Given the description of an element on the screen output the (x, y) to click on. 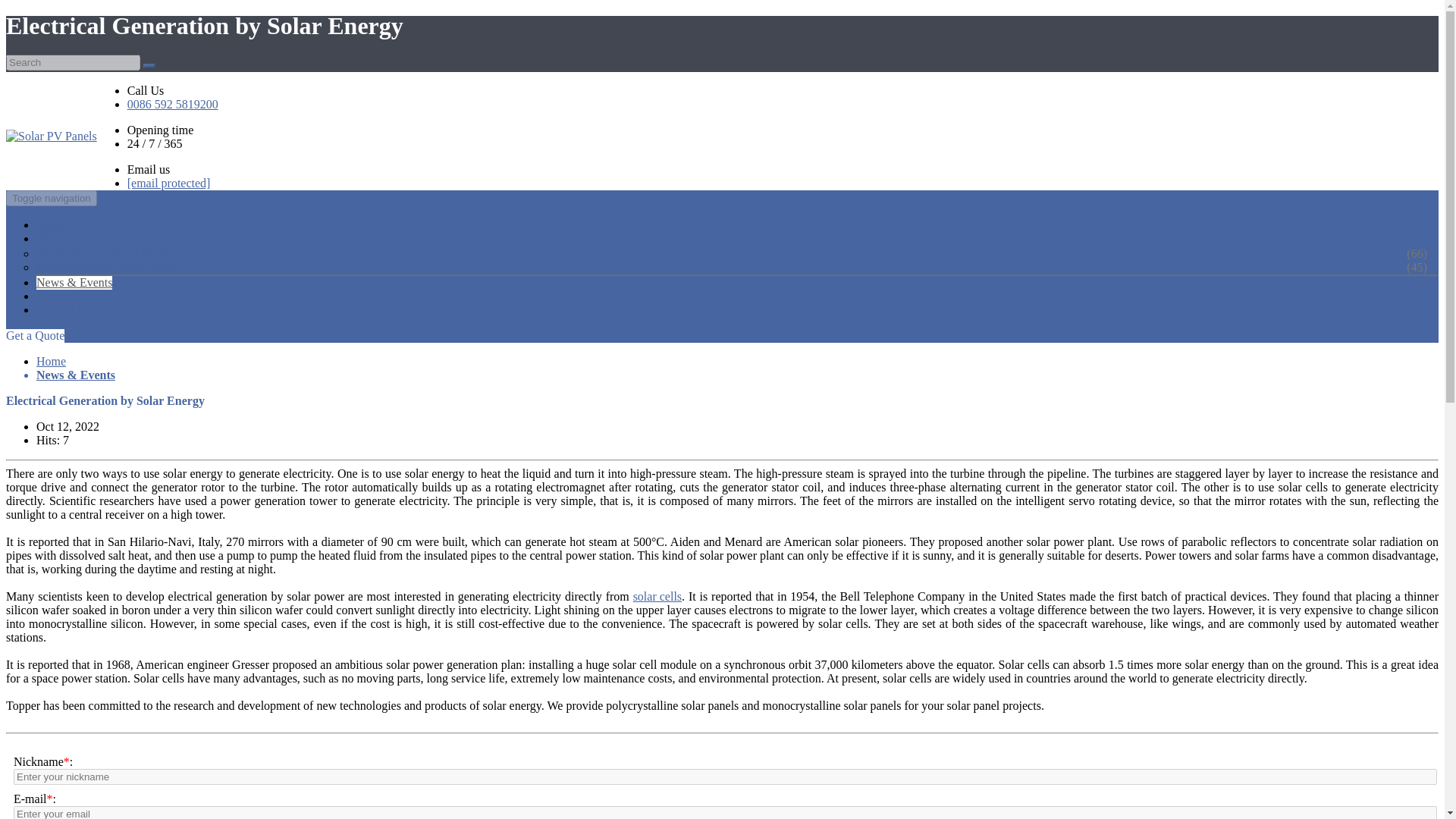
Monocrystalline Solar Panel (124, 267)
About Us (59, 296)
Home (50, 361)
Products (57, 238)
0086 592 5819200 (173, 104)
Get a Quote (34, 336)
Monocrystalline Solar Panel (124, 267)
Solar PV Panels (51, 130)
solar panel (657, 596)
solar cells (657, 596)
Polycrystalline Solar Panel (120, 254)
Products (57, 238)
0086 592 5819200 (173, 104)
Contact Us (63, 309)
Home (50, 361)
